Given the description of an element on the screen output the (x, y) to click on. 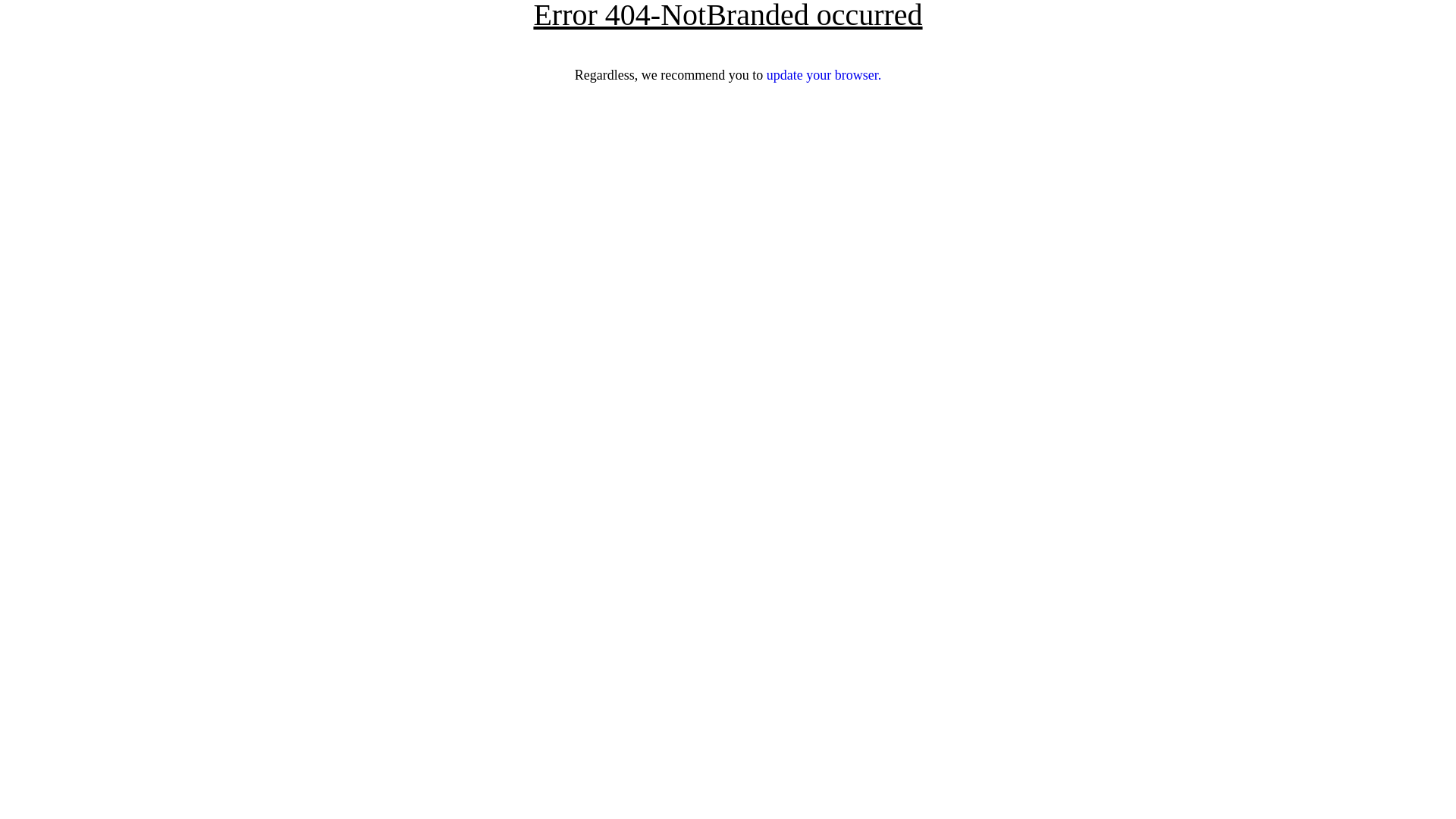
update your browser. Element type: text (823, 74)
